Given the description of an element on the screen output the (x, y) to click on. 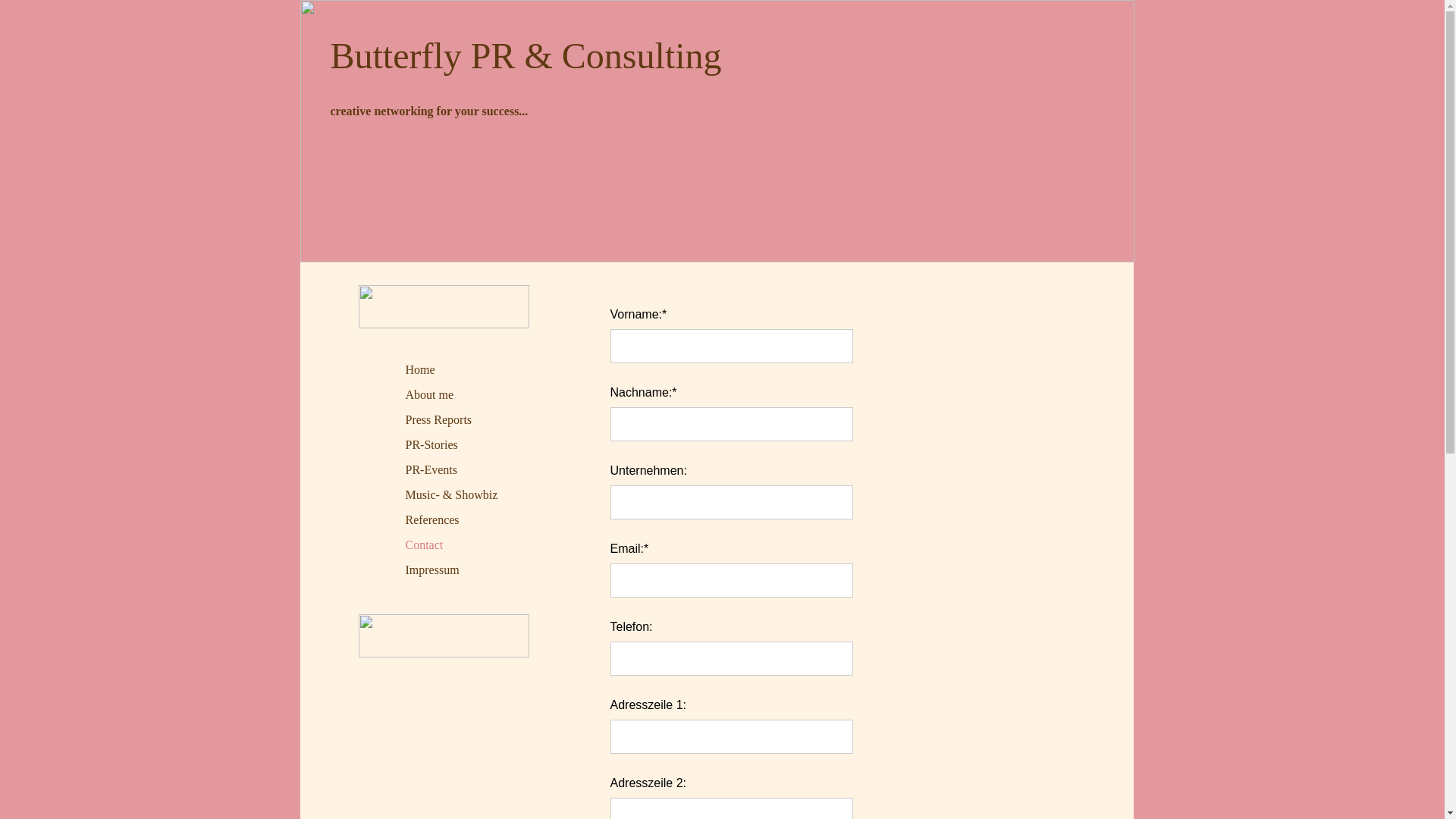
Press Reports Element type: text (438, 419)
About me Element type: text (429, 394)
Impressum Element type: text (431, 569)
Music- & Showbiz Element type: text (451, 494)
PR-Events Element type: text (430, 469)
References Element type: text (431, 519)
Home Element type: text (419, 369)
PR-Stories Element type: text (430, 444)
Contact Element type: text (423, 544)
